Given the description of an element on the screen output the (x, y) to click on. 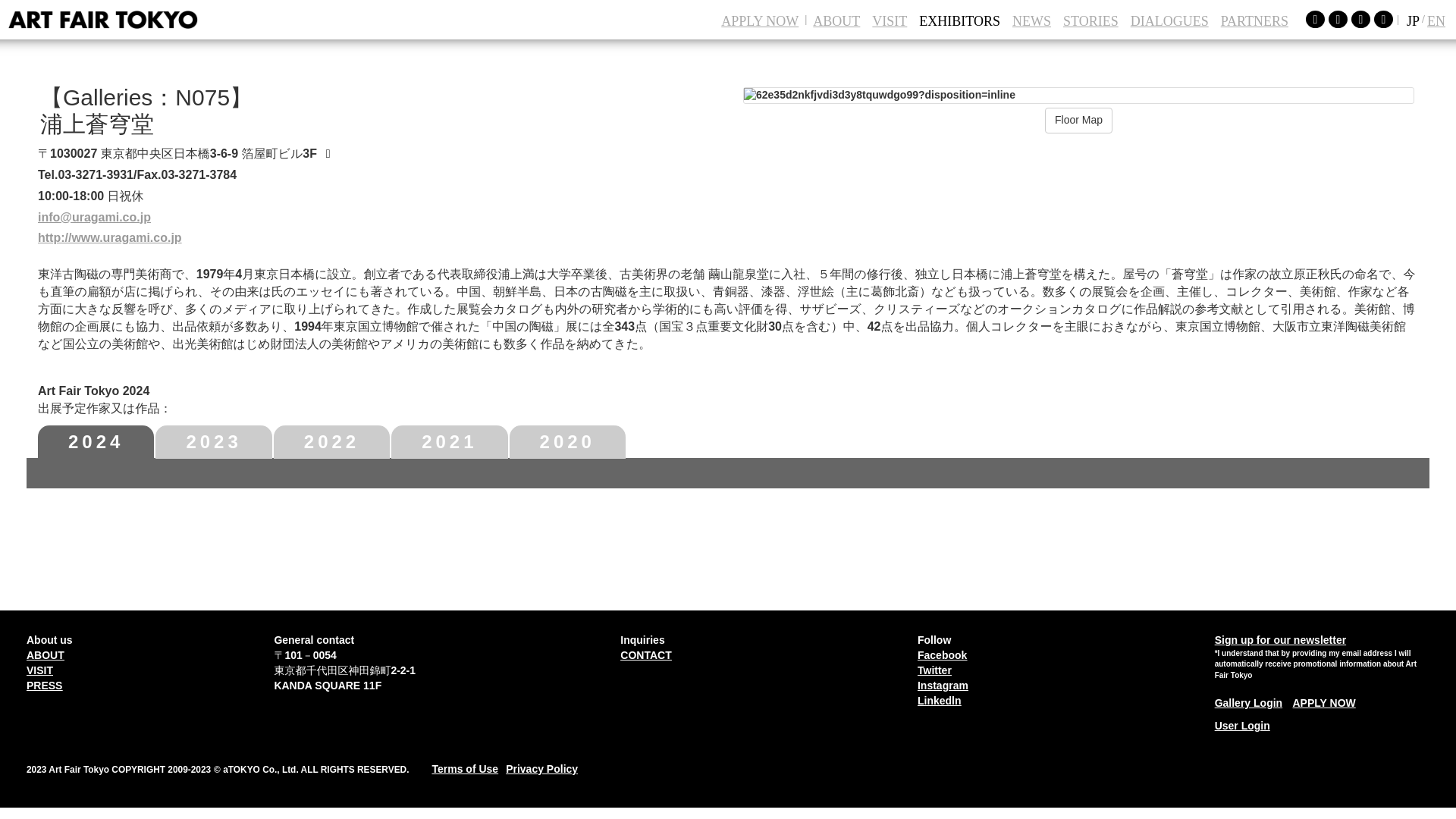
PARTNERS (1254, 20)
ABOUT (836, 20)
VISIT (889, 20)
STORIES (1090, 20)
APPLY NOW (759, 20)
JP (1410, 20)
Floor Map (1078, 120)
EN (1436, 20)
DIALOGUES (1169, 20)
2024 (95, 441)
2023 (212, 441)
EXHIBITORS (959, 20)
NEWS (1031, 20)
